Given the description of an element on the screen output the (x, y) to click on. 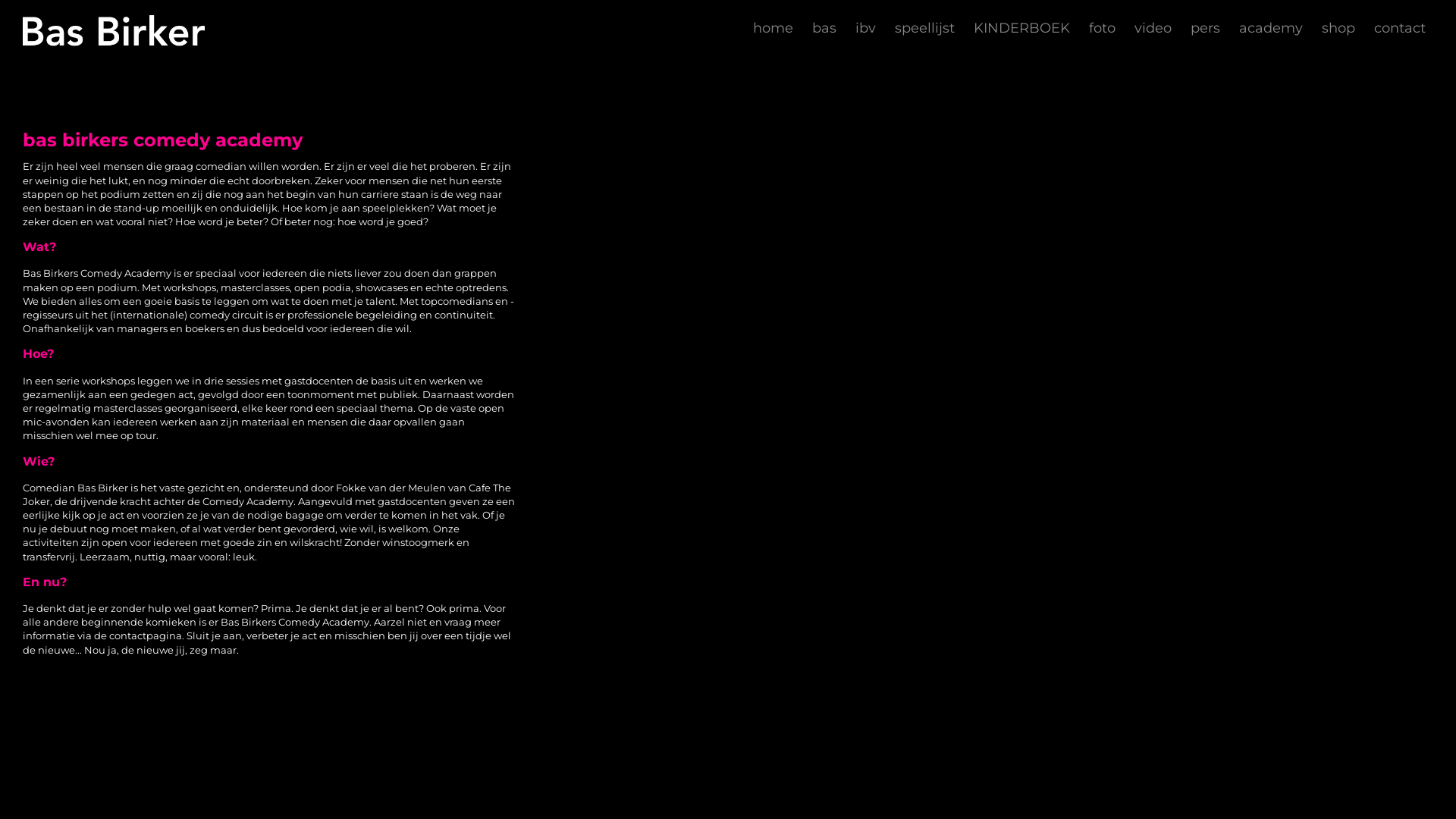
ibv Element type: text (865, 27)
foto Element type: text (1101, 27)
speellijst Element type: text (924, 27)
pers Element type: text (1205, 27)
academy Element type: text (1270, 27)
video Element type: text (1152, 27)
home Element type: text (773, 27)
shop Element type: text (1338, 27)
bas Element type: text (824, 27)
contact Element type: text (1399, 27)
KINDERBOEK Element type: text (1021, 27)
